Given the description of an element on the screen output the (x, y) to click on. 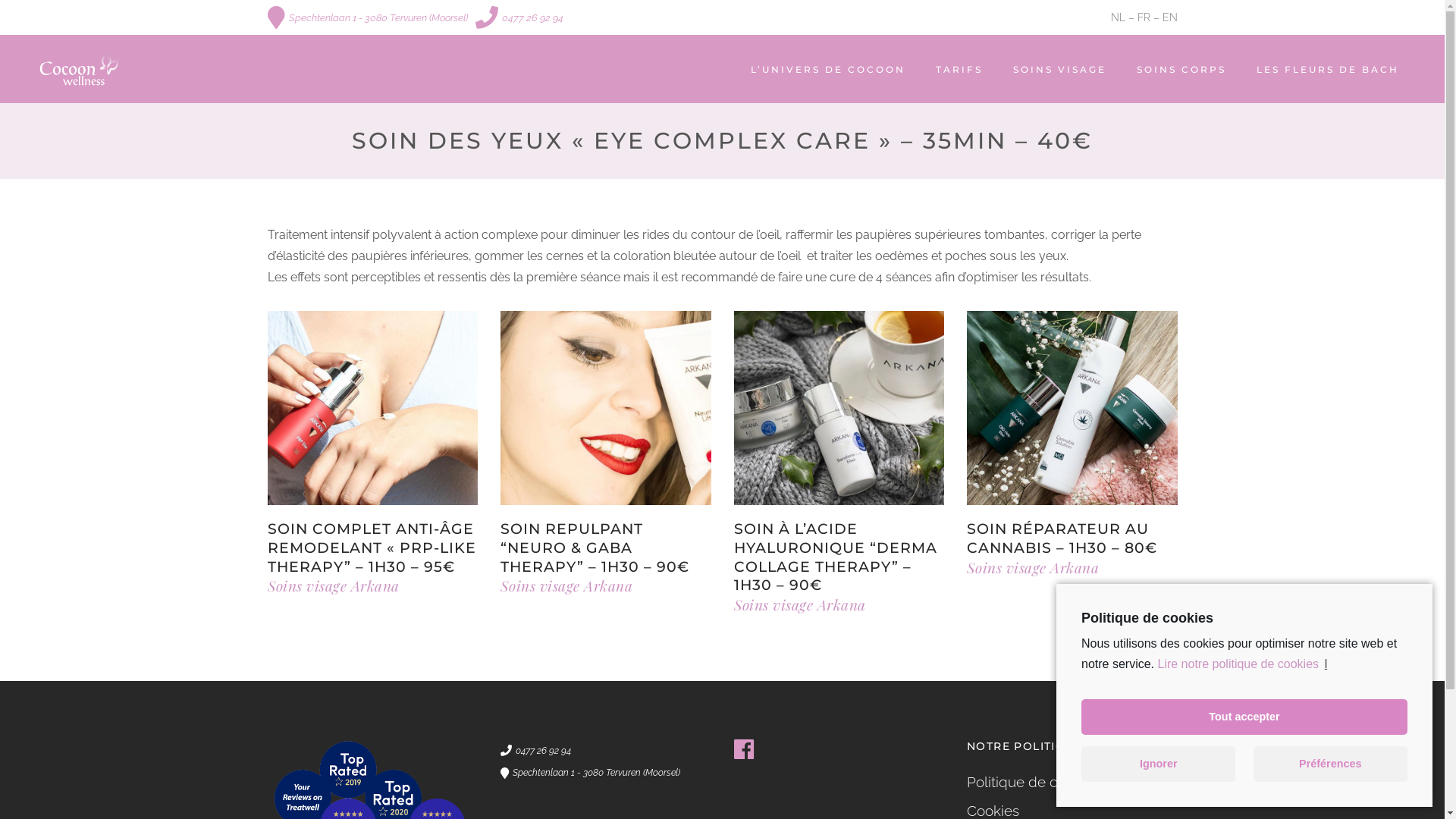
Soins visage Arkana Element type: text (566, 585)
0477 26 92 94 Element type: text (535, 749)
SOINS CORPS Element type: text (1181, 69)
Ignorer Element type: text (1158, 763)
EN Element type: text (1168, 16)
SOINS VISAGE Element type: text (1059, 69)
TARIFS Element type: text (958, 69)
Soins visage Arkana Element type: text (1032, 566)
FR Element type: text (1143, 16)
Soins visage Arkana Element type: text (800, 604)
Lire notre politique de cookies Element type: text (1237, 663)
Spechtenlaan 1 - 3080 Tervuren (Moorsel) Element type: text (590, 772)
Tout accepter Element type: text (1244, 716)
NL Element type: text (1117, 16)
Spechtenlaan 1 - 3080 Tervuren (Moorsel) Element type: text (366, 17)
0477 26 92 94 Element type: text (518, 17)
LES FLEURS DE BACH Element type: text (1327, 69)
l Element type: text (1324, 663)
Soins visage Arkana Element type: text (332, 585)
